Given the description of an element on the screen output the (x, y) to click on. 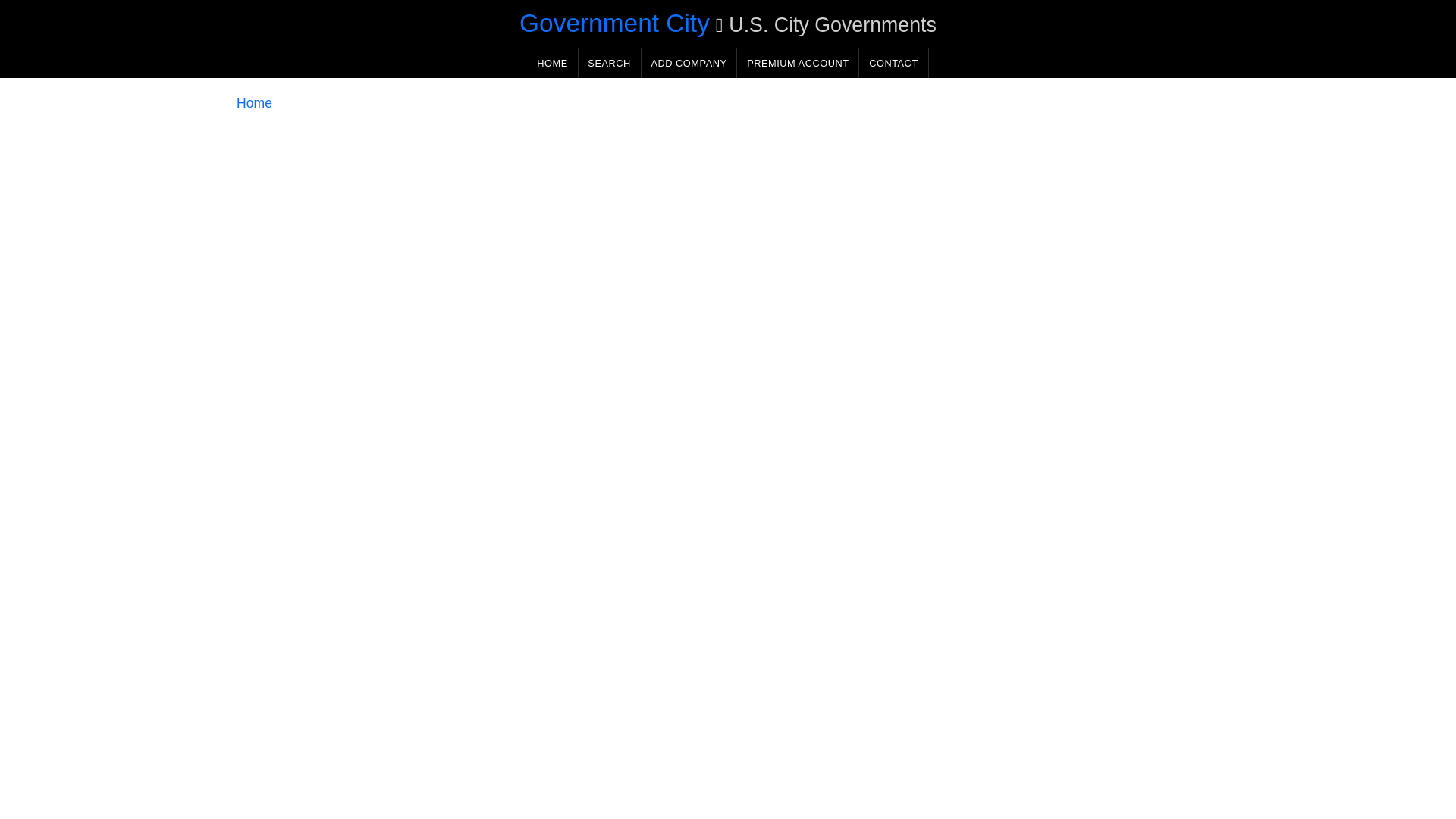
ADD COMPANY (689, 62)
Government City (614, 22)
CONTACT (893, 62)
Home (253, 102)
HOME (551, 62)
Add a new company (689, 62)
Premium account (797, 62)
PREMIUM ACCOUNT (797, 62)
Search in this webseite. (609, 62)
SEARCH (609, 62)
